Given the description of an element on the screen output the (x, y) to click on. 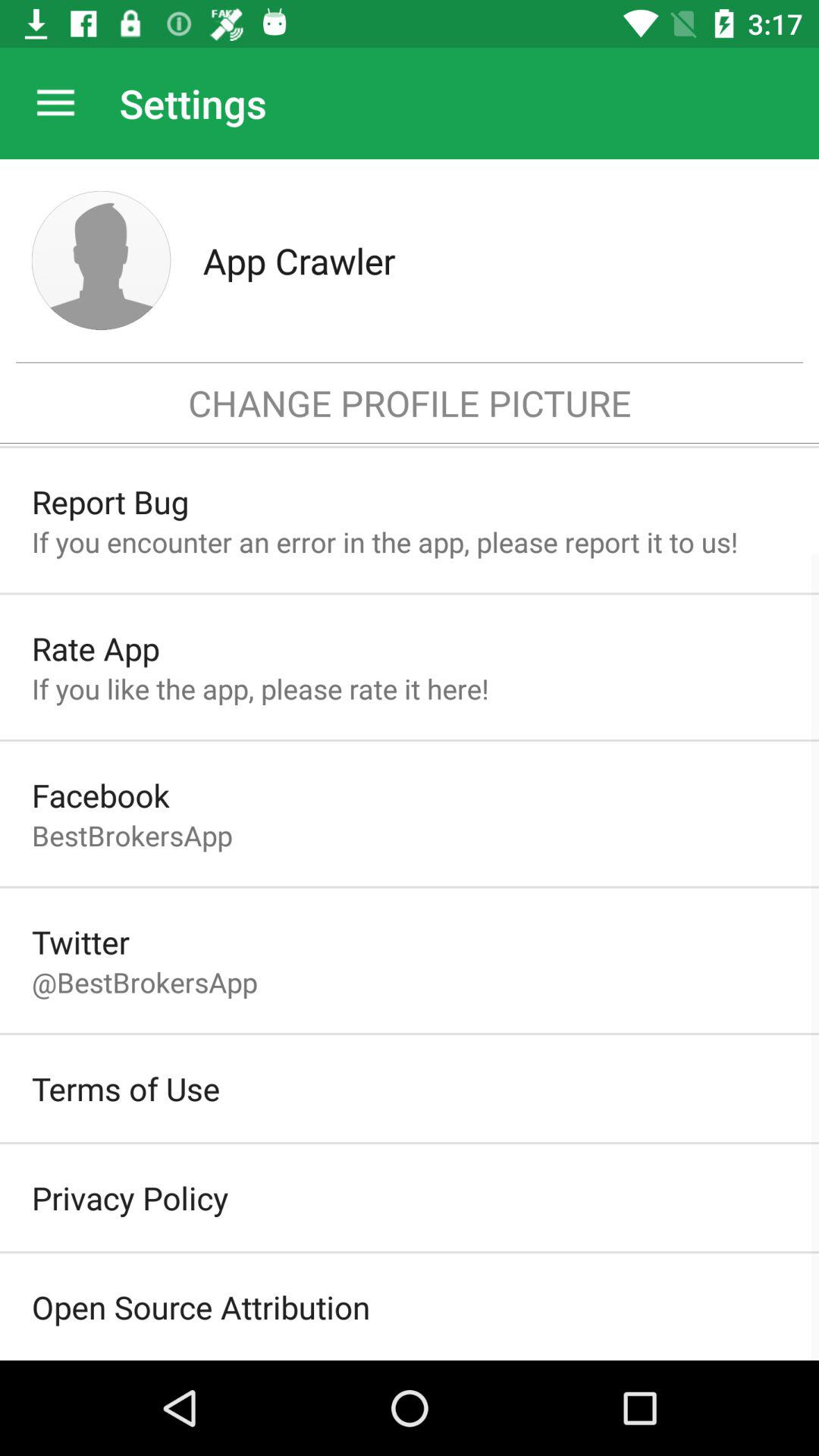
turn on the item next to the settings app (55, 103)
